Given the description of an element on the screen output the (x, y) to click on. 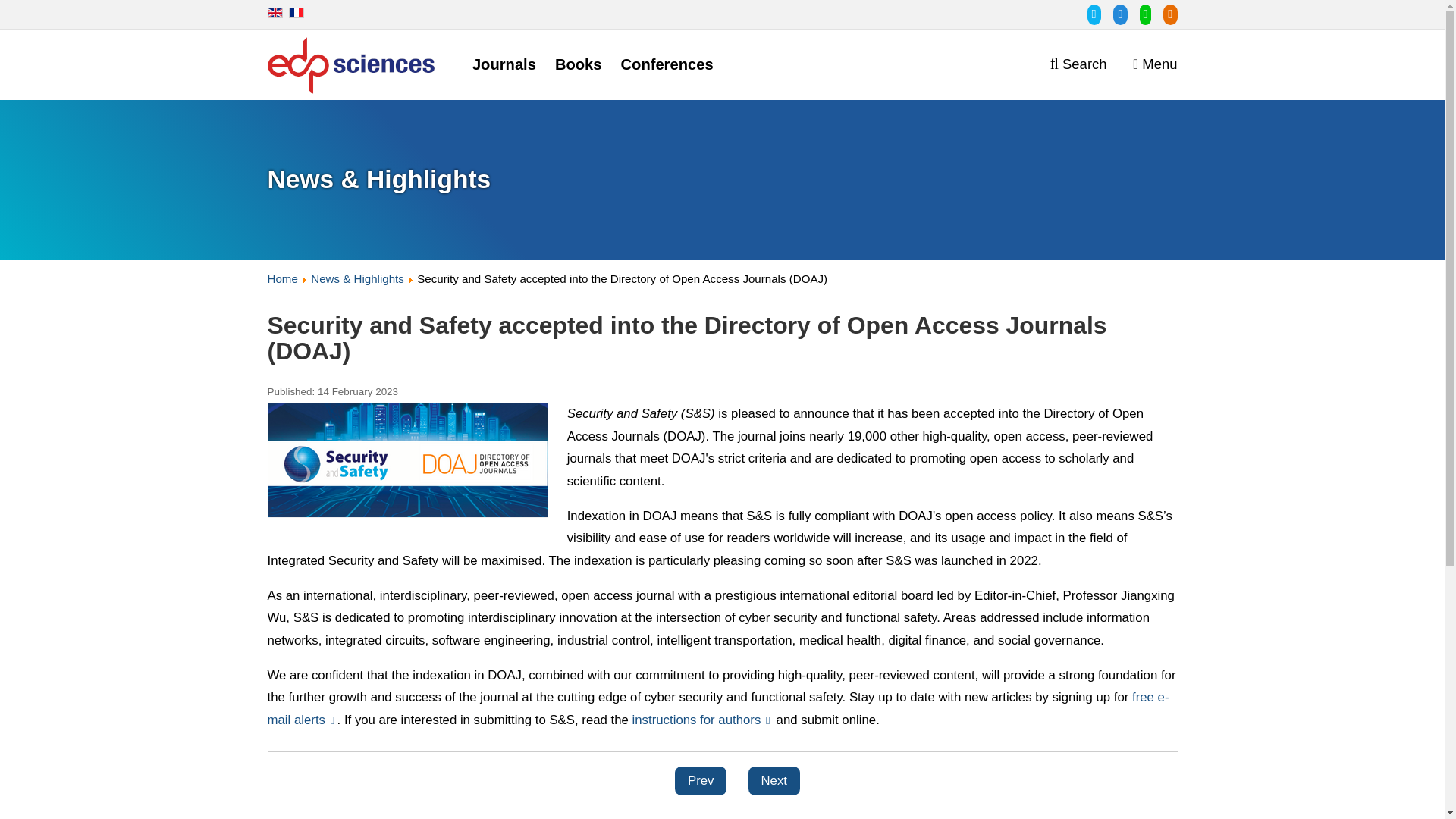
Follow us on twitter (1087, 13)
Connect with us on WeChat (1138, 13)
Follow us on LinkedIn (1113, 13)
EDP Sciences homepage (349, 68)
Menu (1155, 64)
Books (578, 65)
Access our RSS feeds (1164, 13)
Journals (503, 65)
Conferences (667, 65)
Display the search engine (1077, 64)
